Given the description of an element on the screen output the (x, y) to click on. 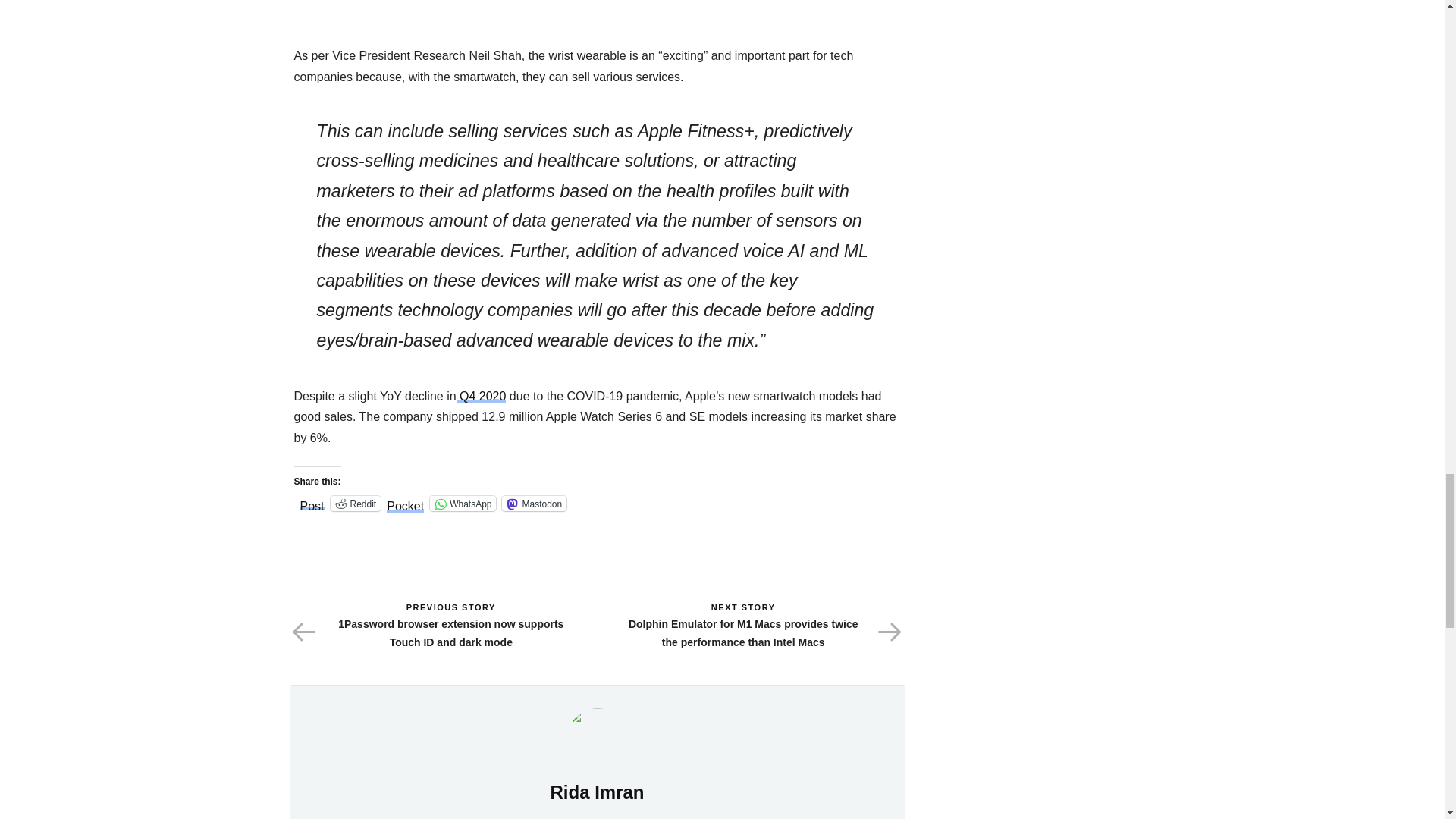
Click to share on Mastodon (534, 503)
Rida Imran (596, 792)
Click to share on Reddit (355, 503)
Click to share on WhatsApp (462, 503)
Rida Imran (597, 737)
